Given the description of an element on the screen output the (x, y) to click on. 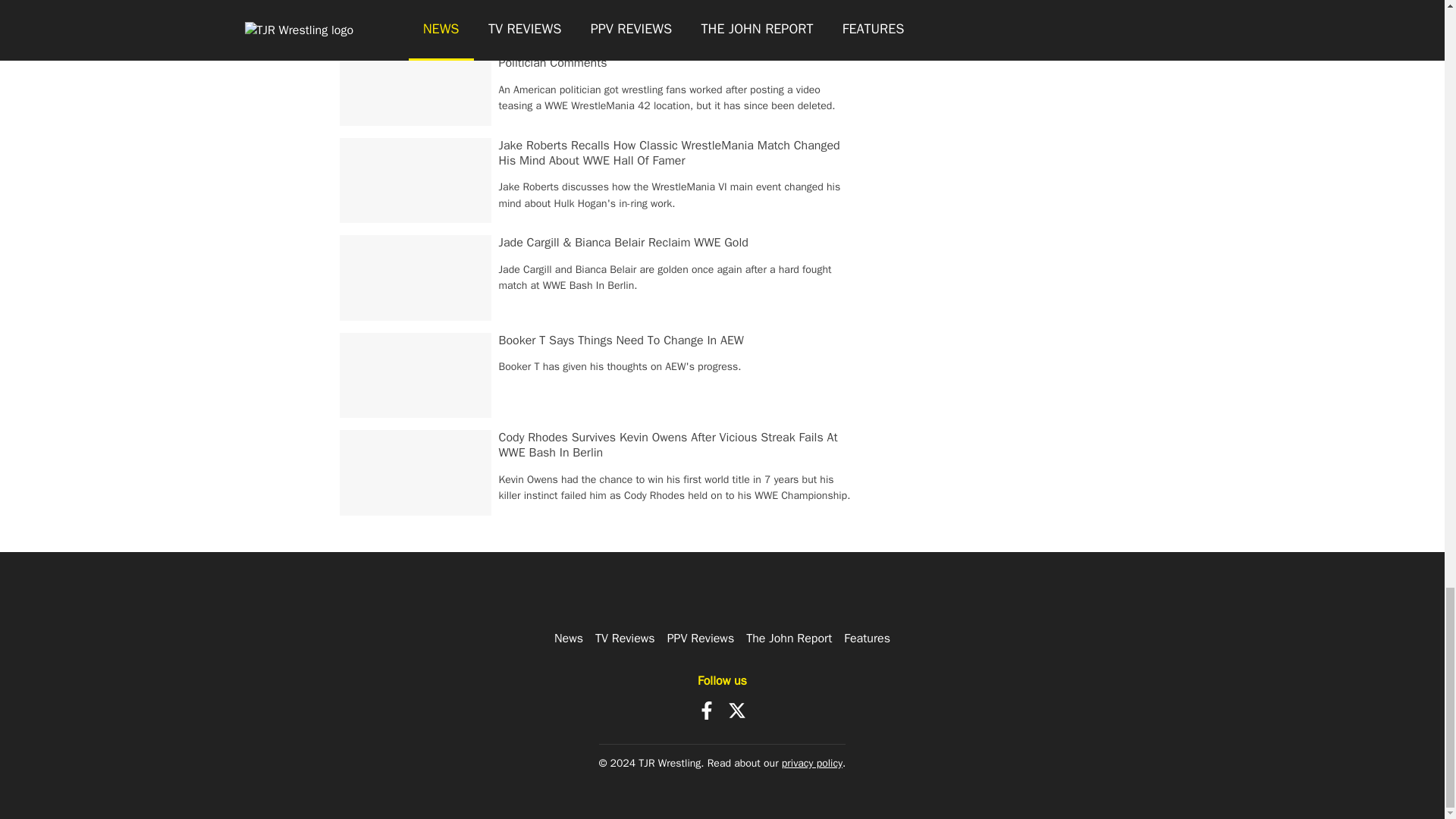
X (736, 710)
Booker T Says Things Need To Change In AEW (621, 340)
Facebook (706, 710)
